Given the description of an element on the screen output the (x, y) to click on. 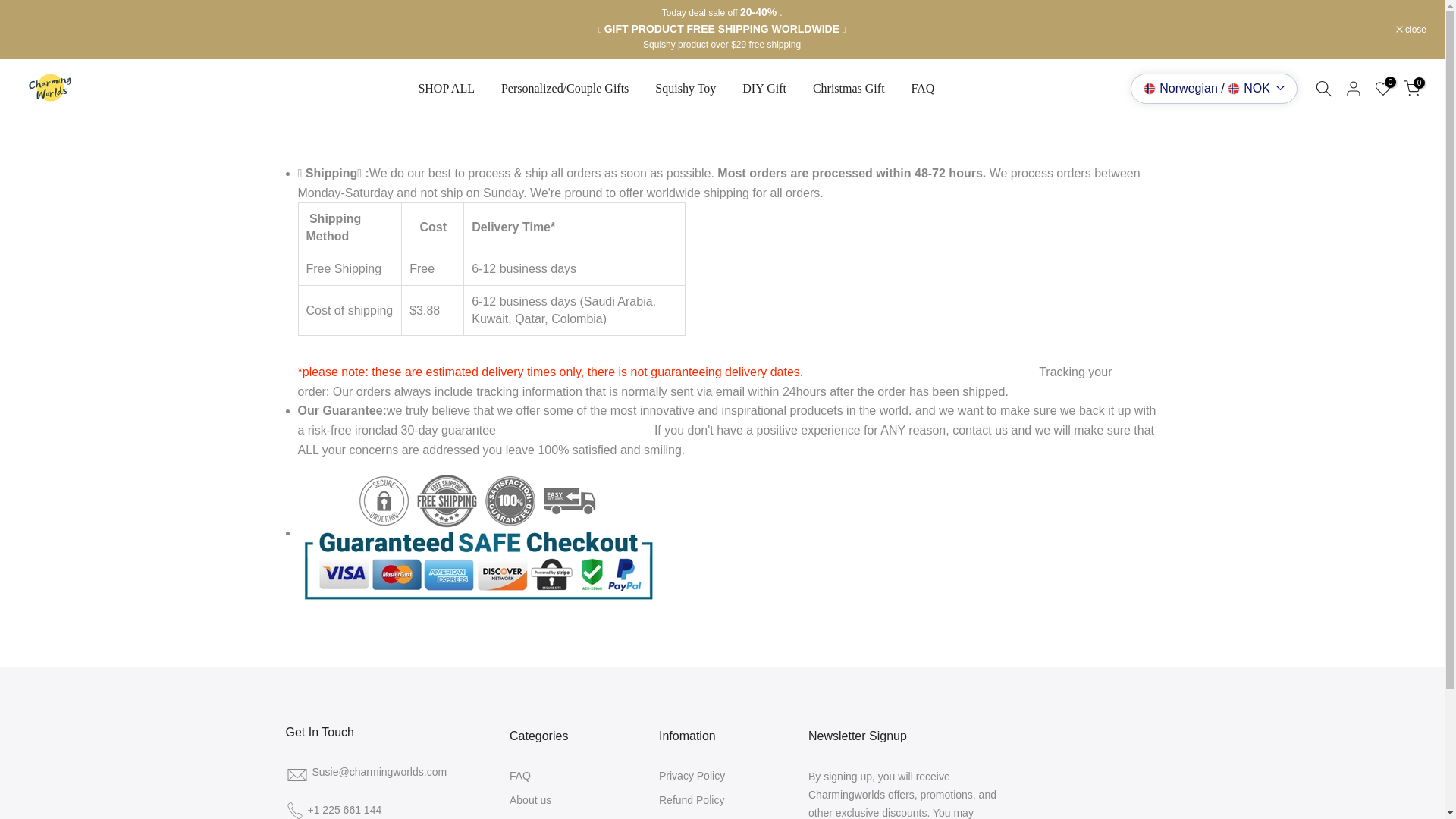
Christmas Gift (848, 88)
close (1411, 29)
FAQ (520, 775)
FAQ (922, 88)
SHOP ALL (445, 88)
0 (1382, 88)
Skip to content (10, 7)
Squishy Toy (685, 88)
DIY Gift (764, 88)
0 (1412, 88)
